Given the description of an element on the screen output the (x, y) to click on. 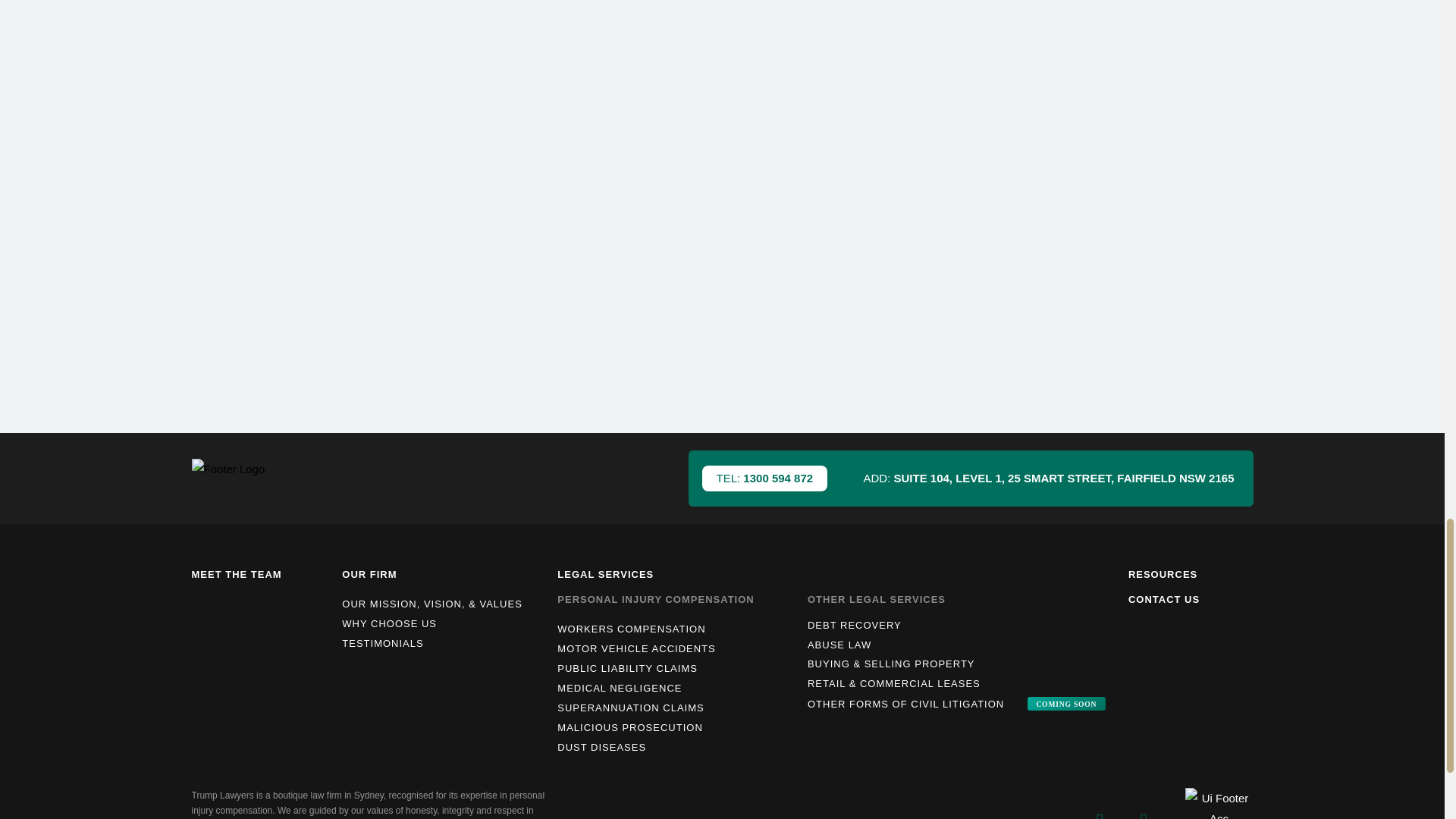
MEDICAL NEGLIGENCE (678, 688)
SUPERANNUATION CLAIMS (678, 708)
MEET THE TEAM (235, 573)
WORKERS COMPENSATION (678, 629)
ADD: SUITE 104, LEVEL 1, 25 SMART STREET, FAIRFIELD NSW 2165 (1048, 477)
MOTOR VEHICLE ACCIDENTS (678, 649)
TESTIMONIALS (441, 643)
TEL: 1300 594 872 (764, 478)
PUBLIC LIABILITY CLAIMS (678, 668)
LEGAL SERVICES (605, 573)
